Given the description of an element on the screen output the (x, y) to click on. 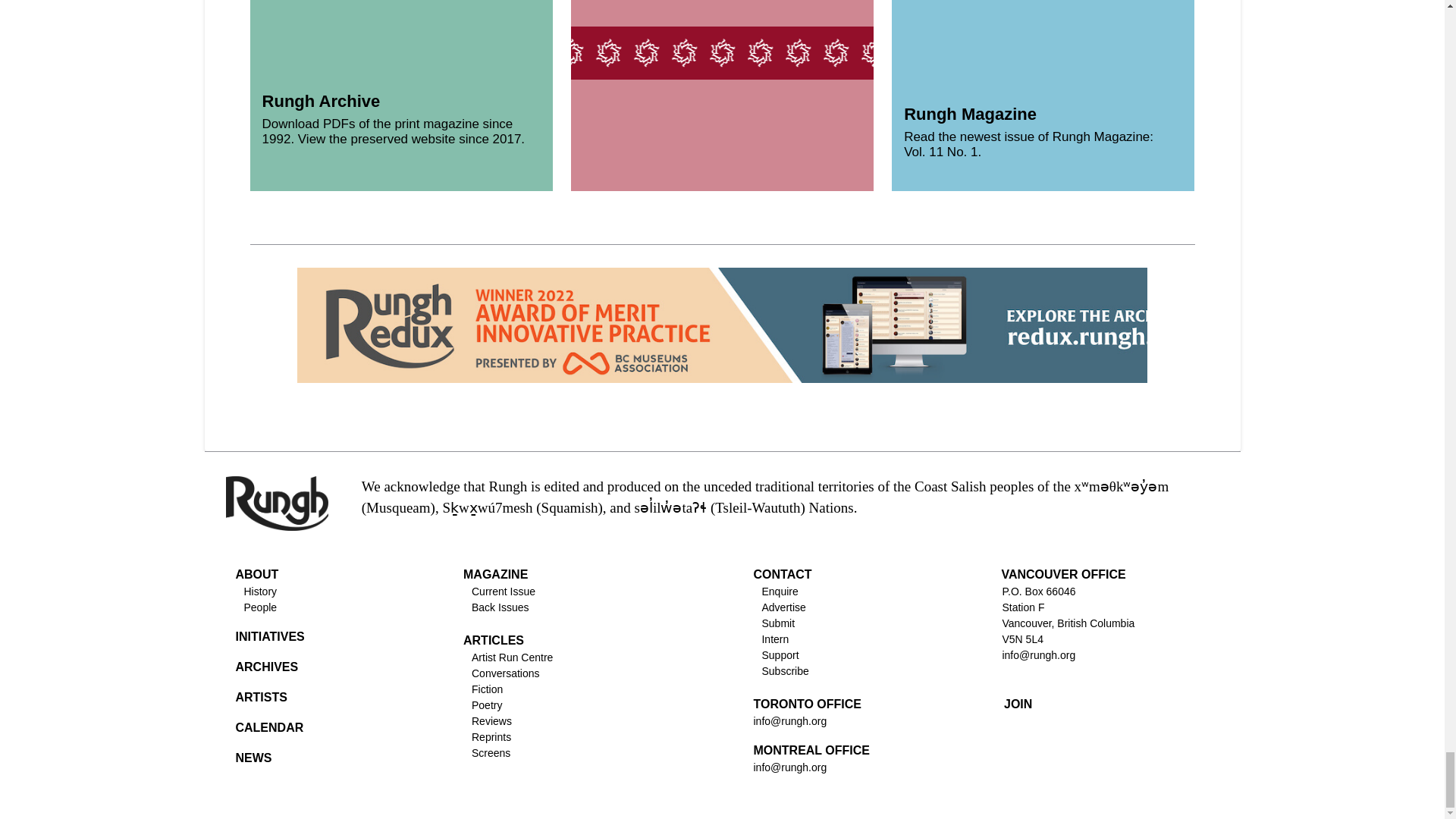
Rungh Redux Winner 2022 Award of Merit Innovative Practice (762, 325)
